Given the description of an element on the screen output the (x, y) to click on. 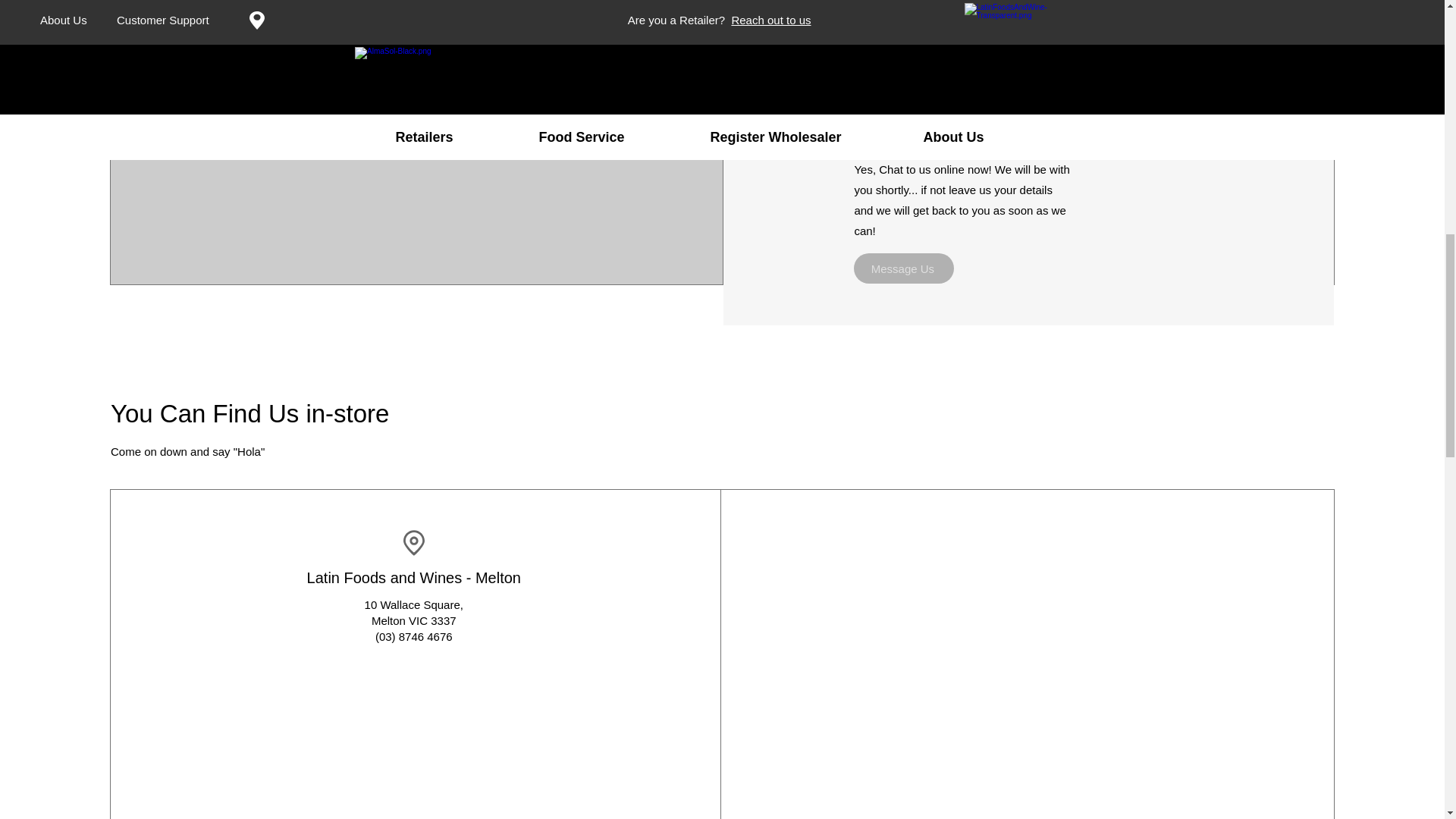
Message Us (903, 268)
Submit (903, 11)
Latin Foods and Wines - Melton (414, 577)
